Given the description of an element on the screen output the (x, y) to click on. 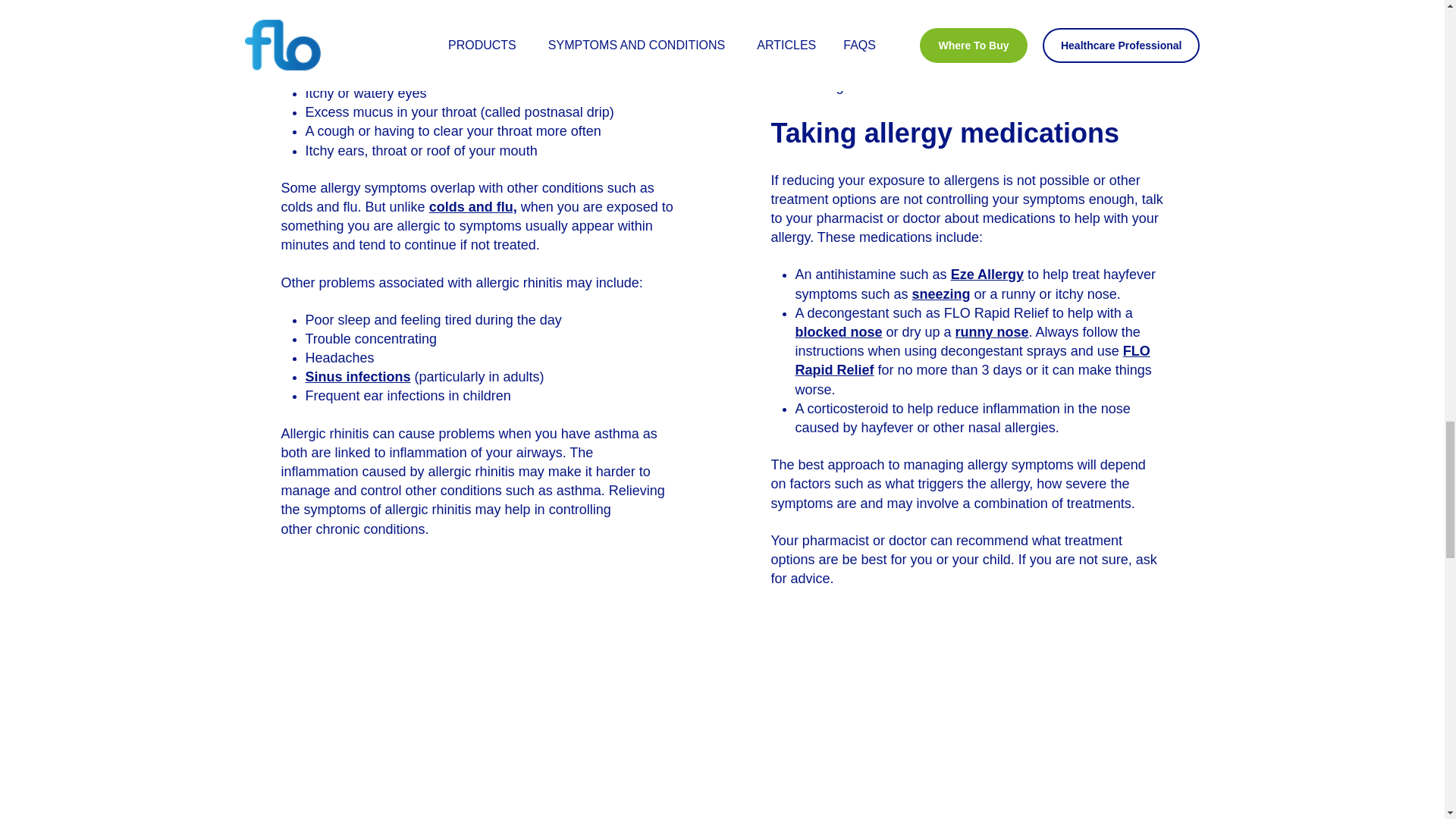
blocked nose (413, 16)
Frequent sneezing (364, 73)
A runny nose (347, 35)
